Given the description of an element on the screen output the (x, y) to click on. 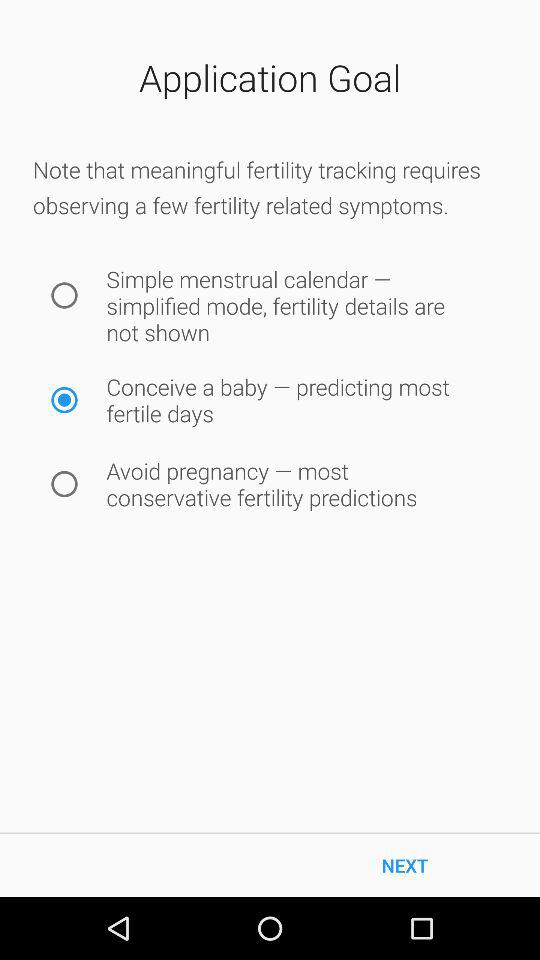
scroll until next item (405, 864)
